Given the description of an element on the screen output the (x, y) to click on. 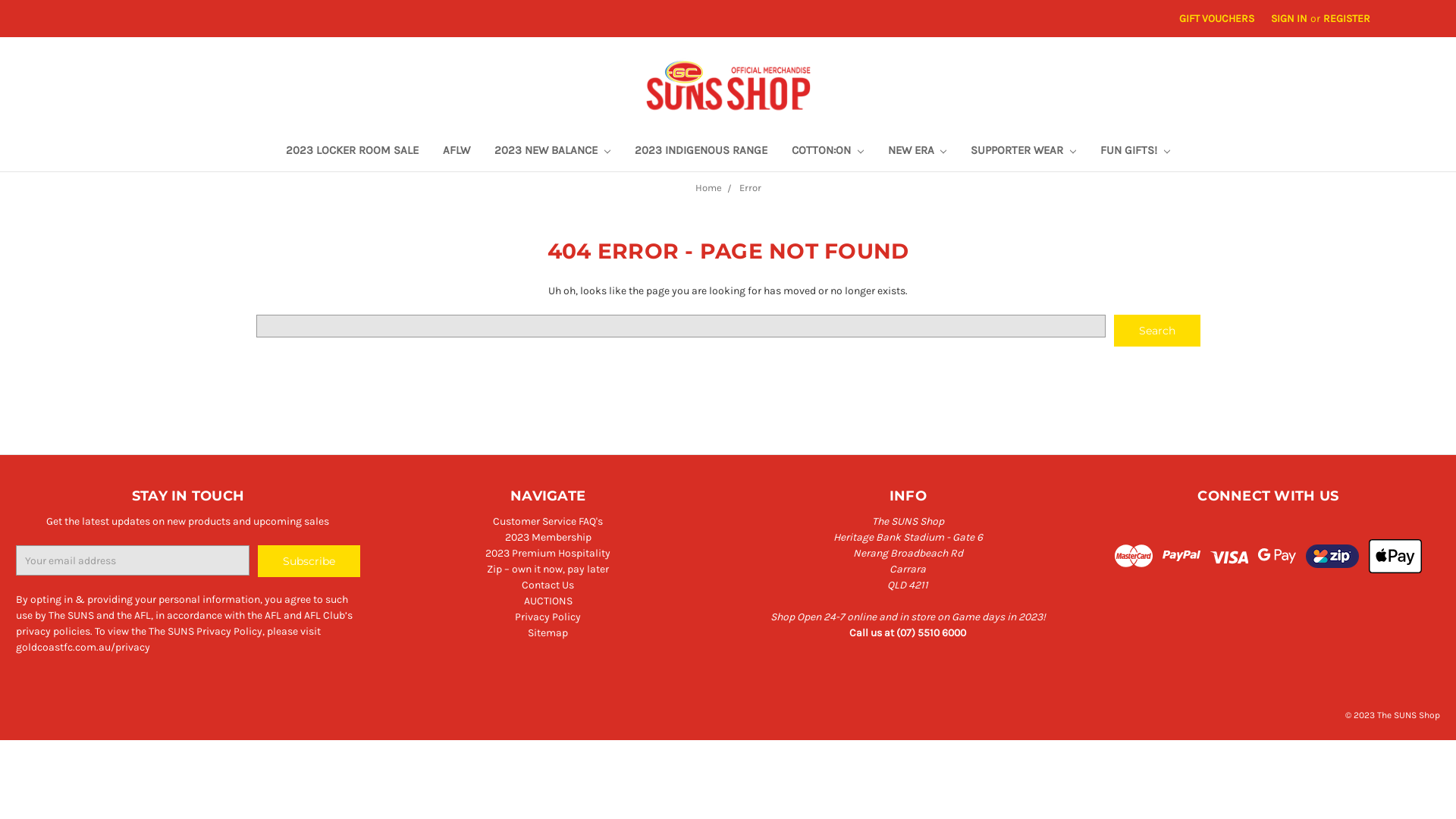
Wishlist Element type: hover (1414, 10)
2023 LOCKER ROOM SALE Element type: text (351, 151)
COTTON:ON Element type: text (827, 151)
Search Element type: text (1156, 330)
Customer Service FAQ's Element type: text (547, 520)
The SUNS Shop Element type: hover (727, 85)
2023 Premium Hospitality Element type: text (547, 552)
REGISTER Element type: text (1346, 18)
FUN GIFTS! Element type: text (1135, 151)
2023 Membership Element type: text (548, 536)
NEW ERA Element type: text (916, 151)
Subscribe Element type: text (308, 561)
GIFT VOUCHERS Element type: text (1216, 18)
Contact Us Element type: text (547, 584)
Sitemap Element type: text (547, 632)
AFLW Element type: text (456, 151)
2023 INDIGENOUS RANGE Element type: text (700, 151)
Privacy Policy Element type: text (547, 616)
Home Element type: text (707, 187)
2023 NEW BALANCE Element type: text (552, 151)
SUPPORTER WEAR Element type: text (1023, 151)
SIGN IN Element type: text (1288, 18)
AUCTIONS Element type: text (548, 600)
